Given the description of an element on the screen output the (x, y) to click on. 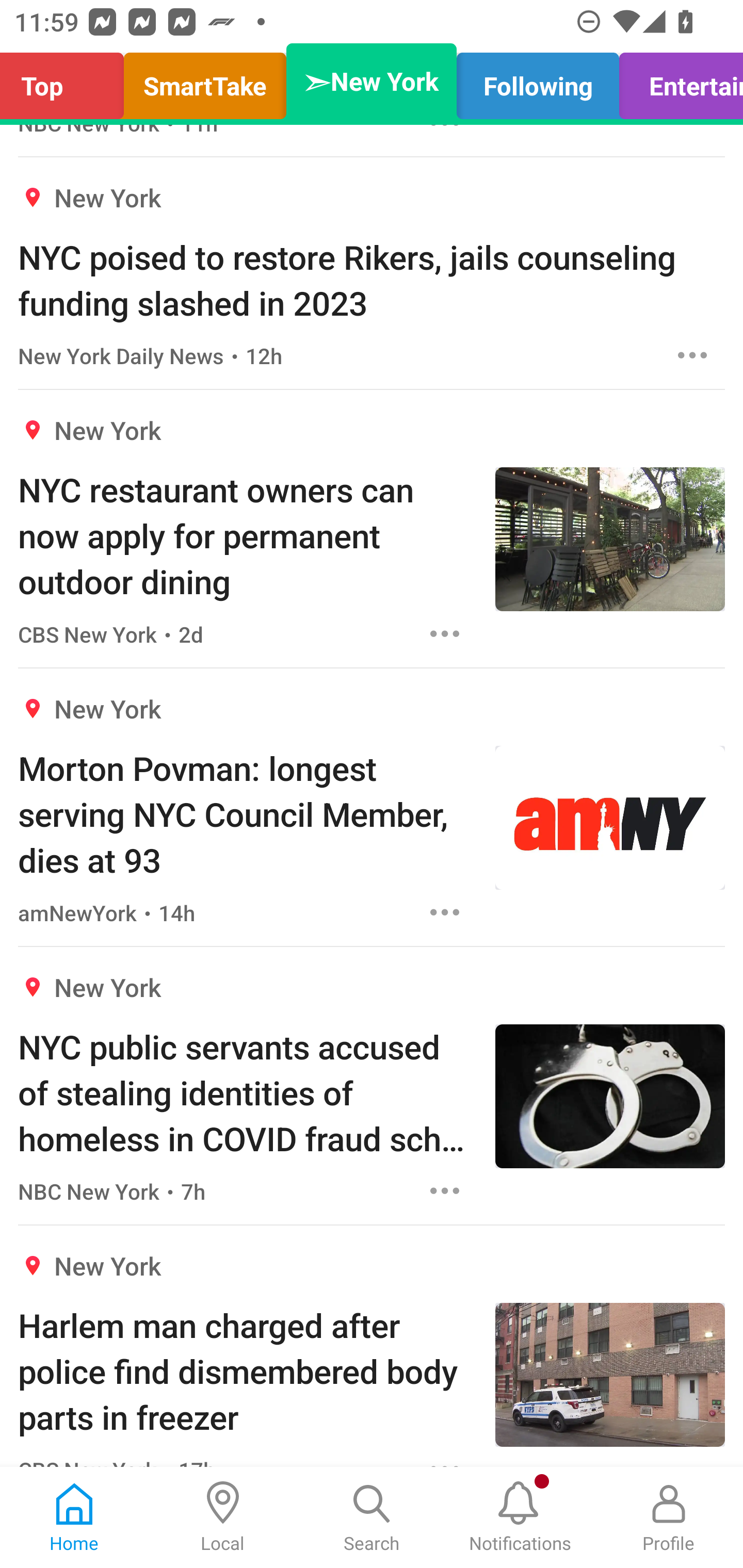
Top (67, 81)
SmartTake (204, 81)
➣New York (371, 81)
Following (537, 81)
Options (692, 354)
Options (444, 633)
Options (444, 912)
Options (444, 1190)
Local (222, 1517)
Search (371, 1517)
Notifications, New notification Notifications (519, 1517)
Profile (668, 1517)
